Given the description of an element on the screen output the (x, y) to click on. 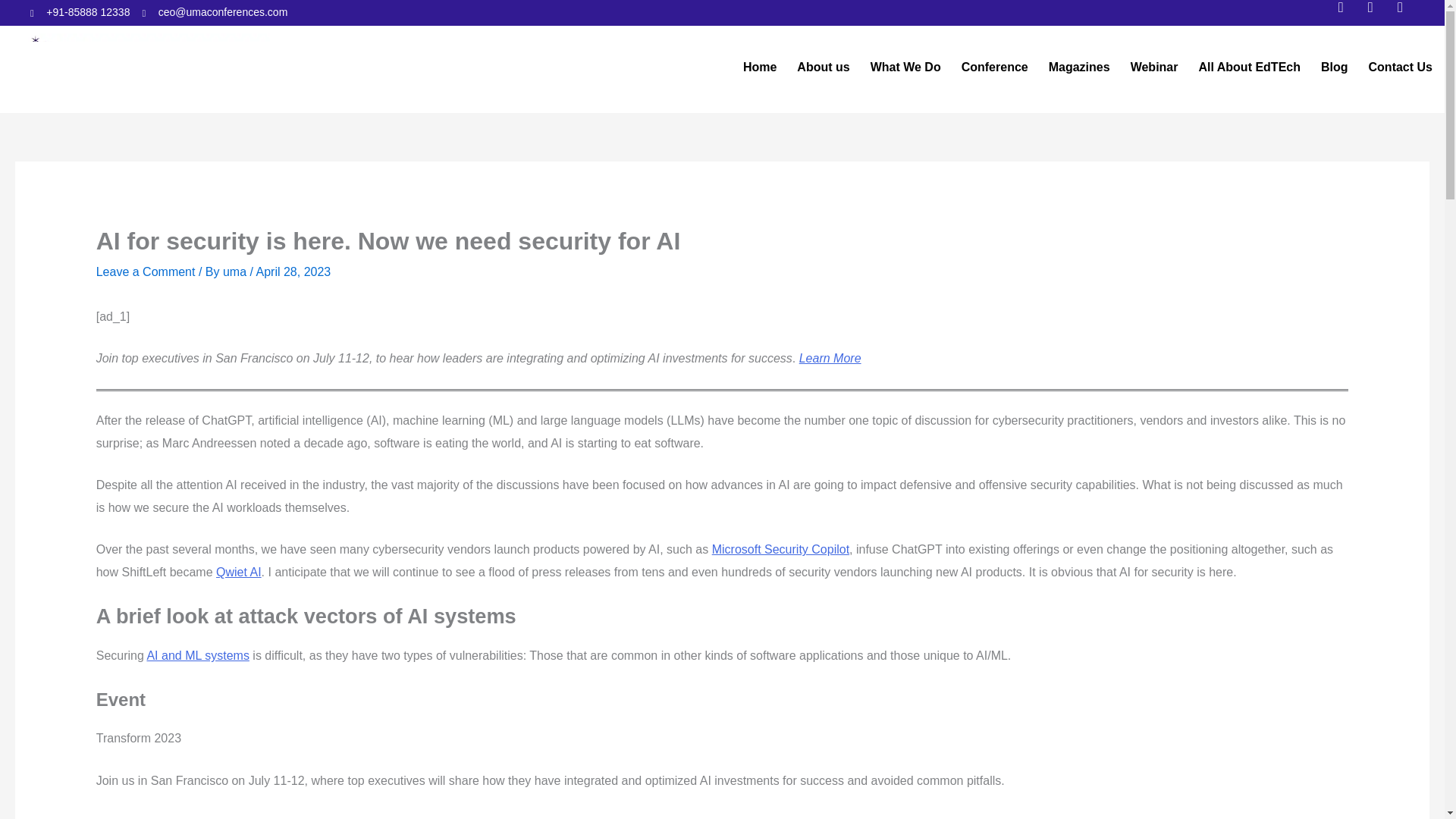
View all posts by uma (236, 271)
Conference (994, 66)
What We Do (905, 66)
Microsoft Security Copilot (779, 549)
Learn More (830, 358)
AI and ML systems (197, 655)
Home (759, 66)
About us (822, 66)
Leave a Comment (145, 271)
Blog (1334, 66)
Qwiet AI (238, 571)
All About EdTEch (1248, 66)
uma (236, 271)
Magazines (1079, 66)
Webinar (1153, 66)
